Given the description of an element on the screen output the (x, y) to click on. 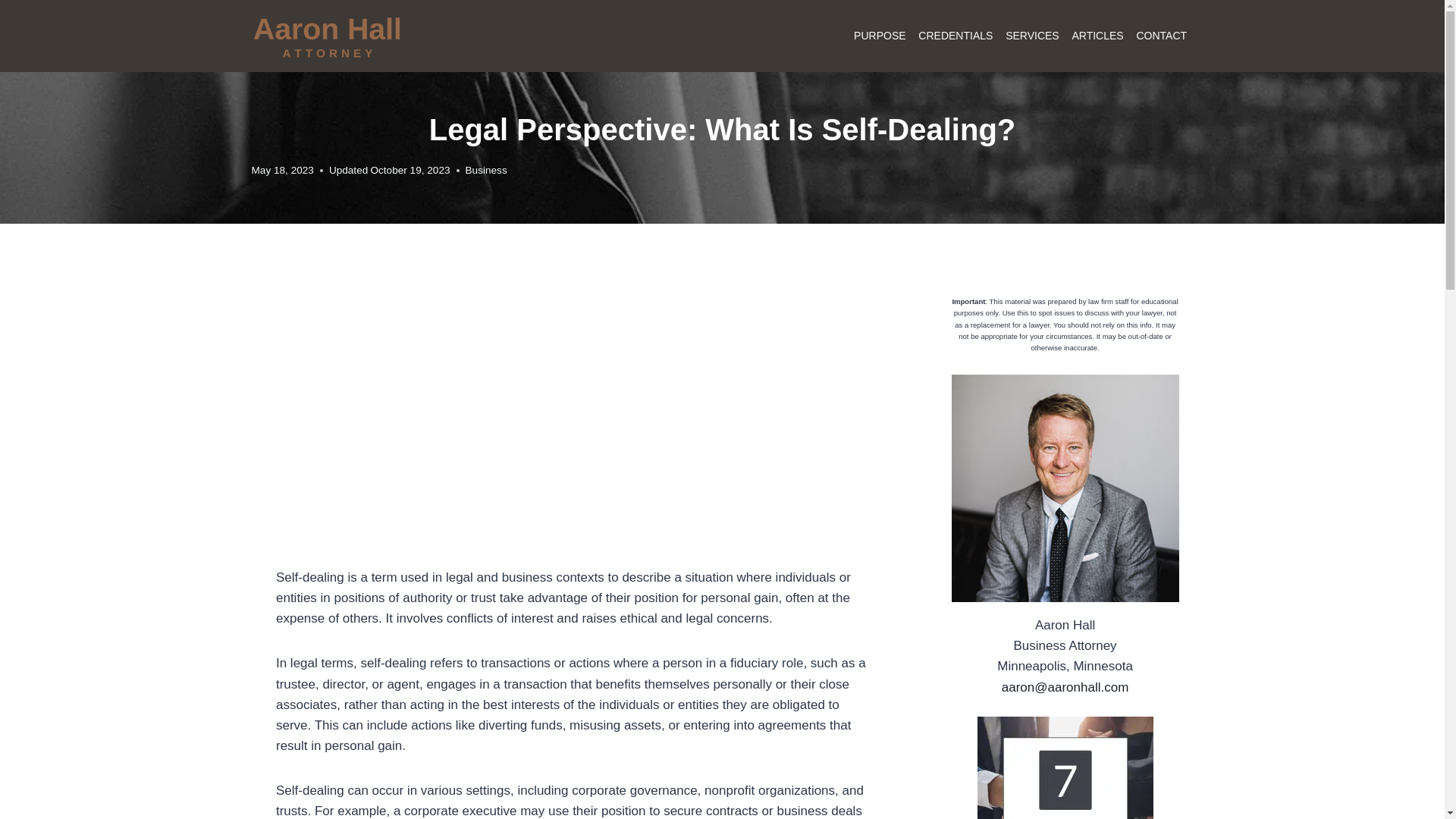
CREDENTIALS (955, 35)
YouTube video player (488, 423)
ARTICLES (1097, 35)
CONTACT (1160, 35)
Business (485, 170)
PURPOSE (879, 35)
SERVICES (1031, 35)
